Given the description of an element on the screen output the (x, y) to click on. 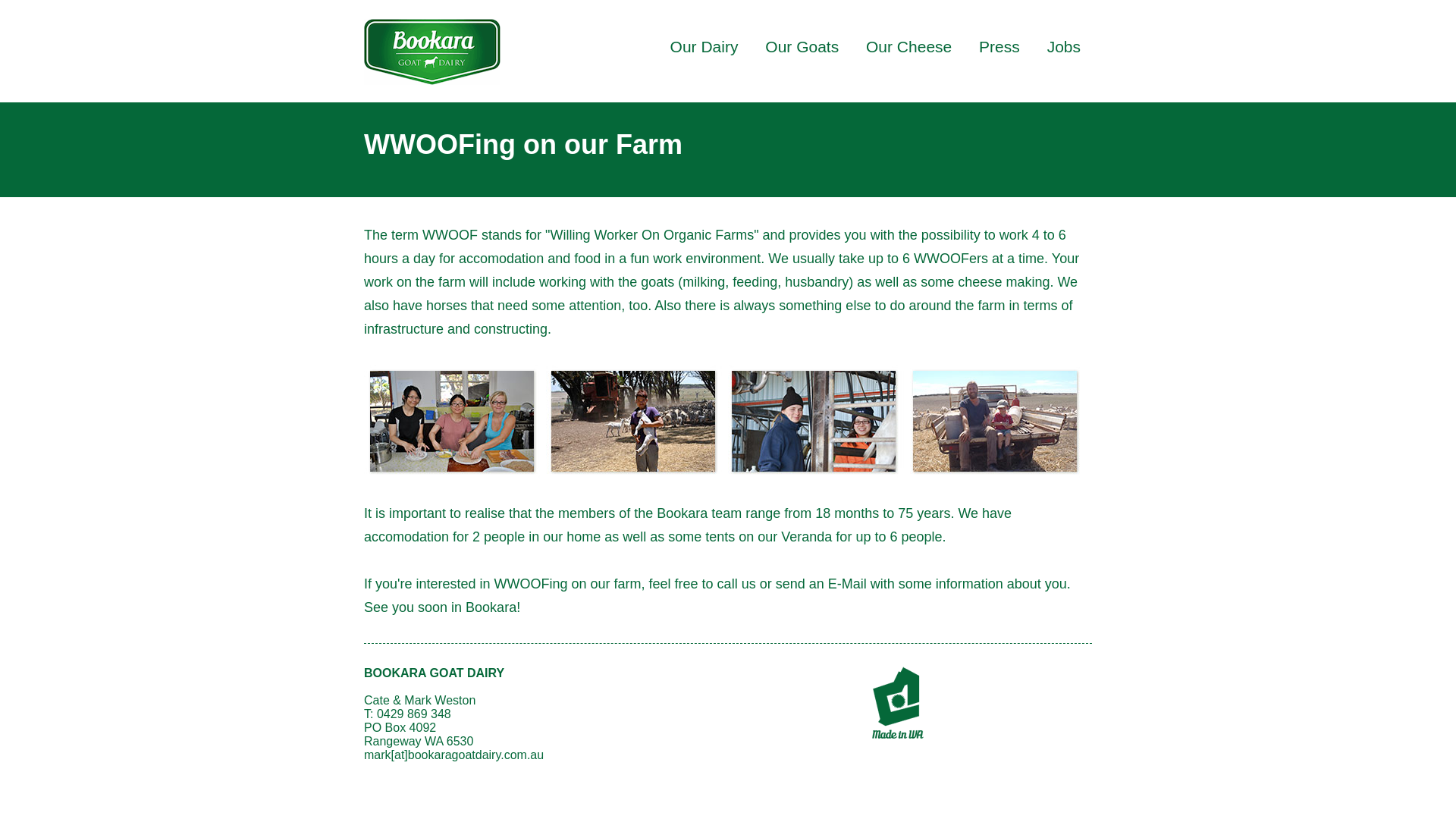
Our Cheese (908, 46)
Our Dairy (704, 46)
Our Goats (802, 46)
Jobs (1063, 46)
Press (999, 46)
